Given the description of an element on the screen output the (x, y) to click on. 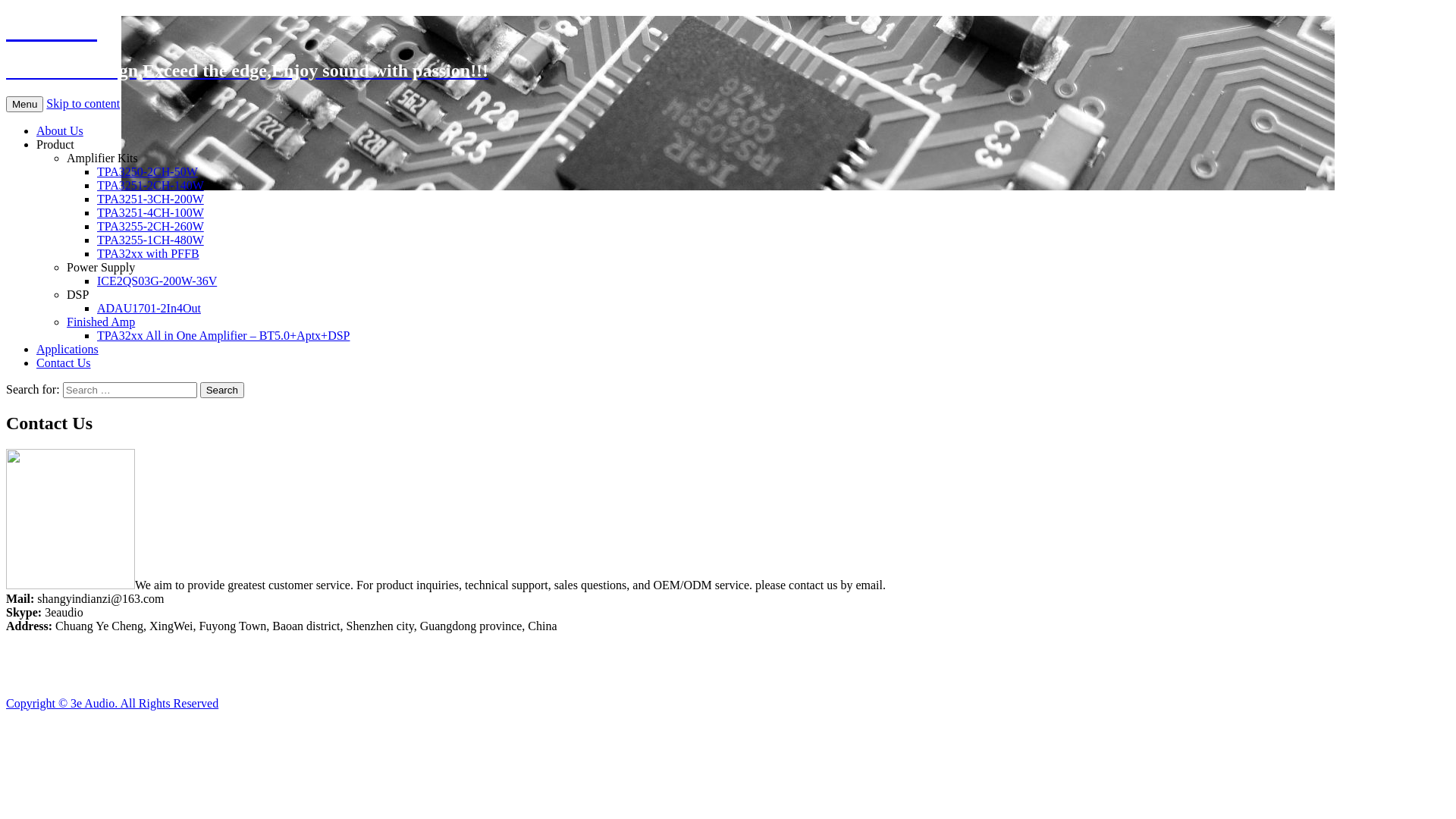
ICE2QS03G-200W-36V Element type: text (156, 280)
TPA3251-3CH-200W Element type: text (150, 198)
TPA3255-1CH-480W Element type: text (150, 239)
TPA3251-4CH-100W Element type: text (150, 212)
TPA3250-2CH-50W Element type: text (147, 171)
TPA3255-2CH-260W Element type: text (150, 225)
TPA32xx with PFFB Element type: text (148, 253)
Skip to content Element type: text (82, 103)
Contact Us Element type: text (63, 362)
Finished Amp Element type: text (100, 321)
Product Element type: text (55, 144)
Amplifier Kits Element type: text (102, 157)
Power Supply Element type: text (100, 266)
DSP Element type: text (77, 294)
Search Element type: text (222, 390)
About Us Element type: text (59, 130)
Menu Element type: text (24, 104)
TPA3251-2CH-140W Element type: text (150, 184)
ADAU1701-2In4Out Element type: text (148, 307)
Applications Element type: text (67, 348)
